Given the description of an element on the screen output the (x, y) to click on. 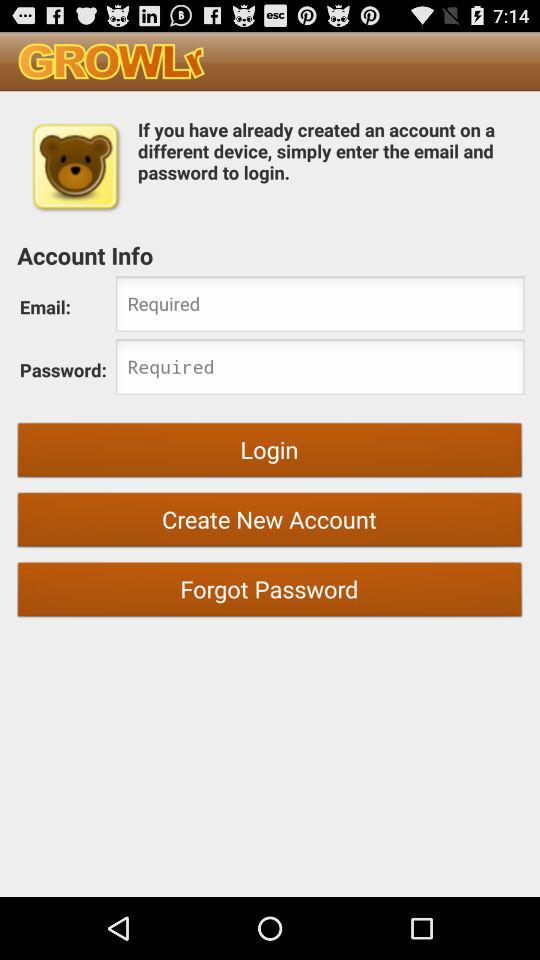
press icon below the create new account item (269, 591)
